Given the description of an element on the screen output the (x, y) to click on. 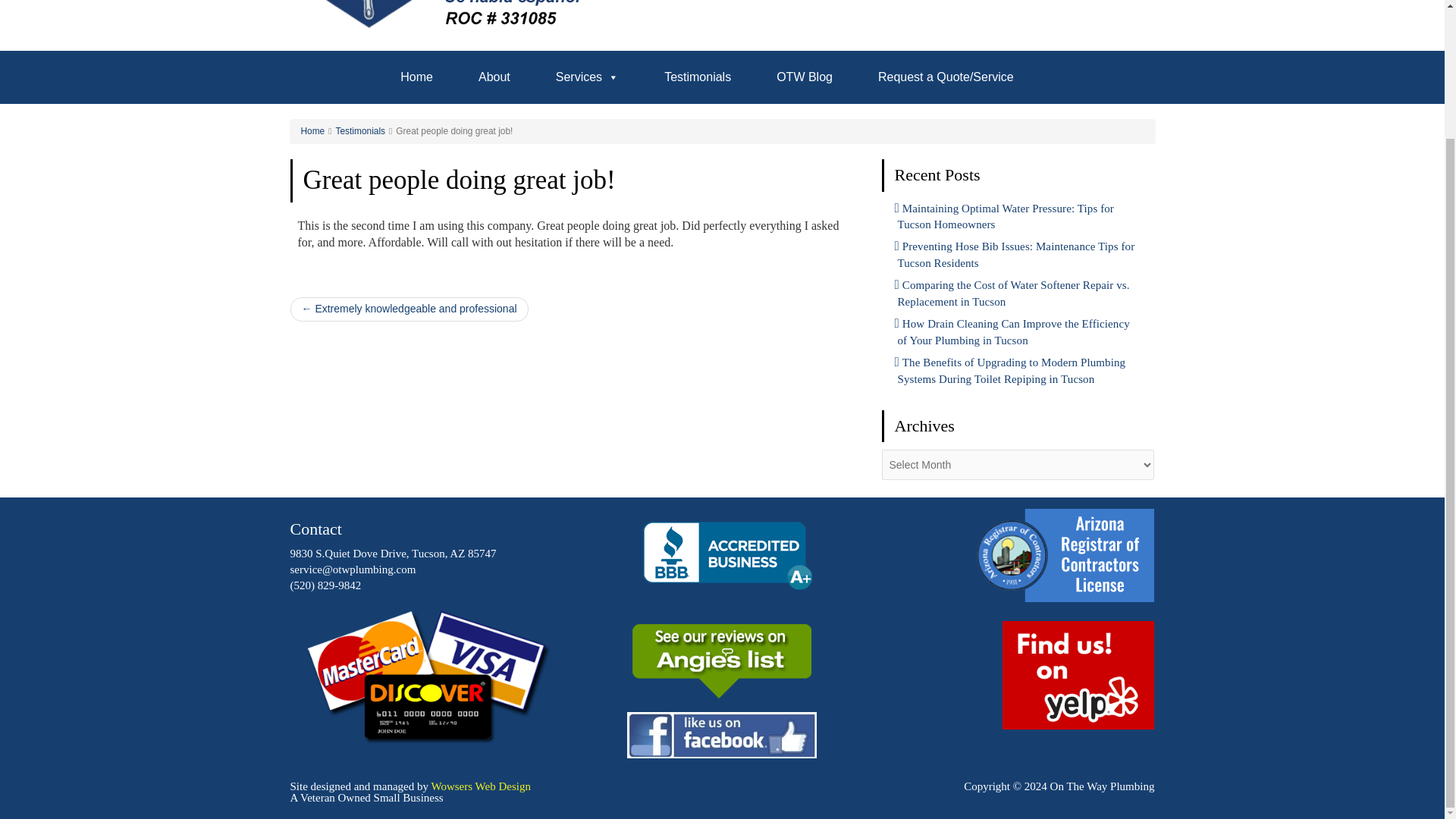
Testimonials (697, 77)
Testimonials (360, 131)
About (494, 77)
Services (587, 77)
OTW Blog (804, 77)
Home (311, 131)
Wowsers Web Design (479, 786)
Home (417, 77)
